Given the description of an element on the screen output the (x, y) to click on. 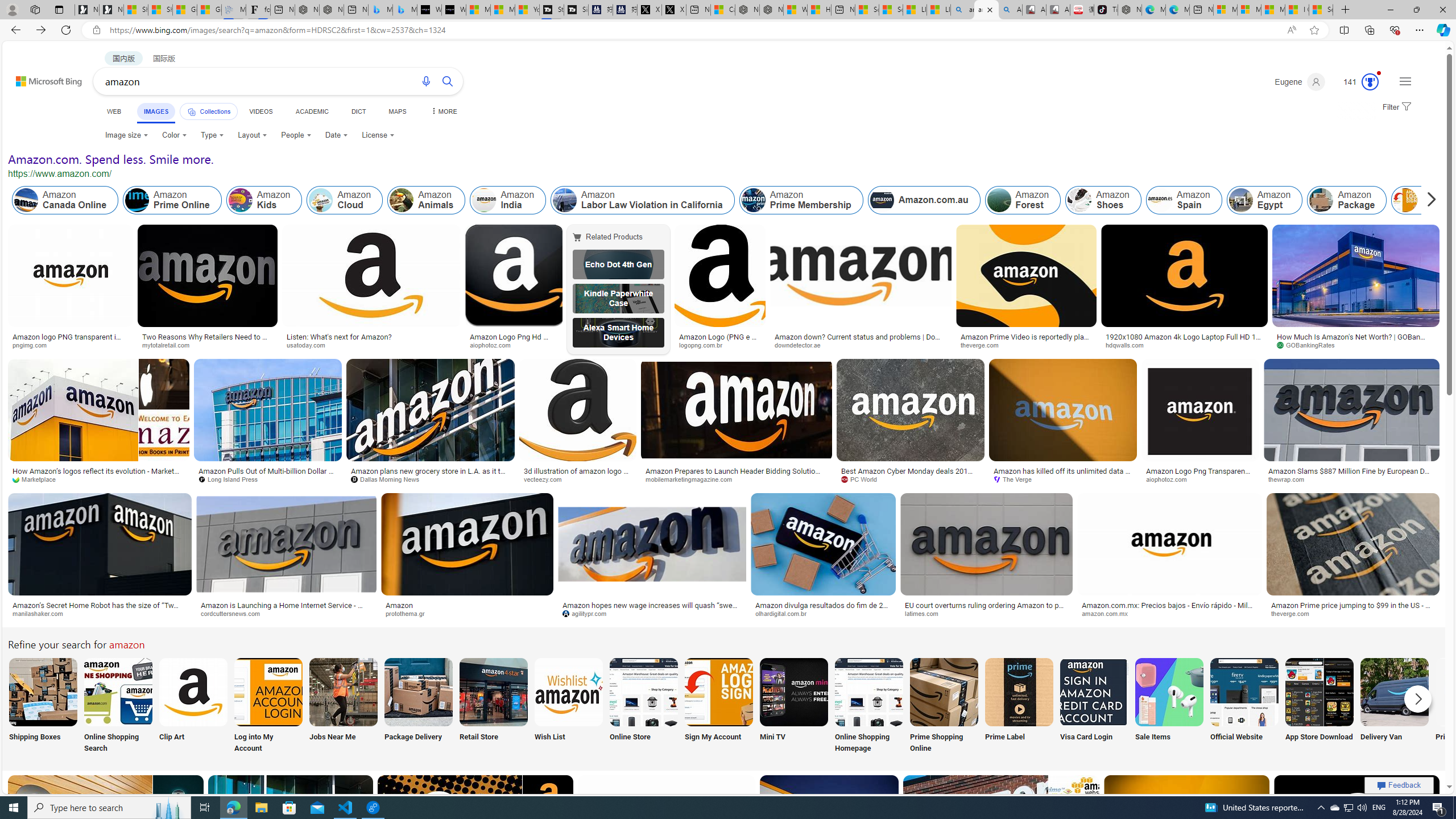
Online Shopping Homepage (868, 706)
mobilemarketingmagazine.com (736, 479)
Delivery Van (1393, 706)
Nordace - Summer Adventures 2024 (770, 9)
Listen: What's next for Amazon? (370, 336)
Amazon Online Shopping Homepage Online Shopping Homepage (868, 706)
Amazon Online Shopping Search (118, 691)
Mini TV (794, 706)
WEB (114, 111)
agilitypr.com (651, 613)
